Given the description of an element on the screen output the (x, y) to click on. 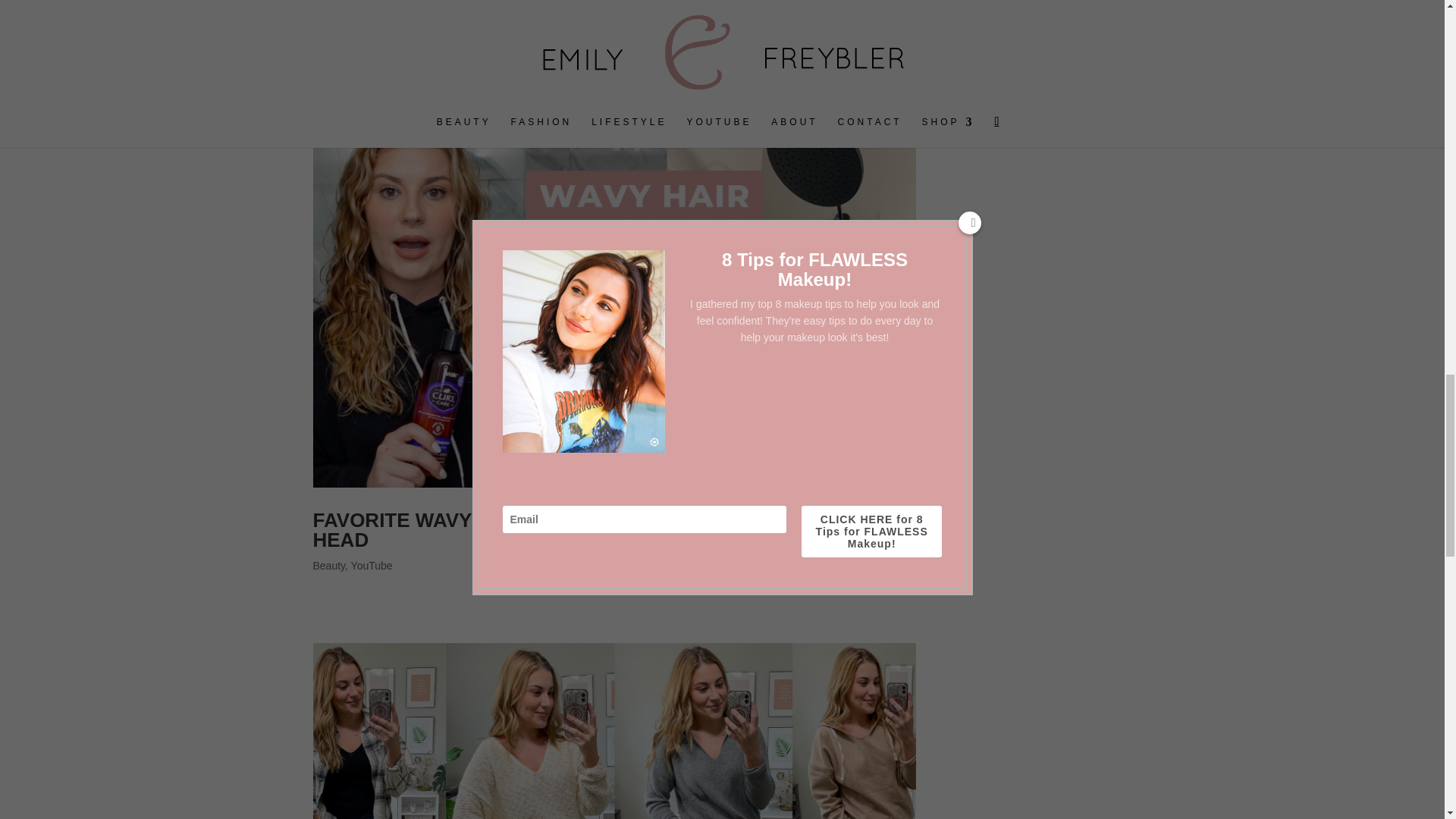
Lifestyle (370, 32)
RANDOM NEW YEAR TARGET HAUL (485, 9)
Beauty (329, 32)
